Given the description of an element on the screen output the (x, y) to click on. 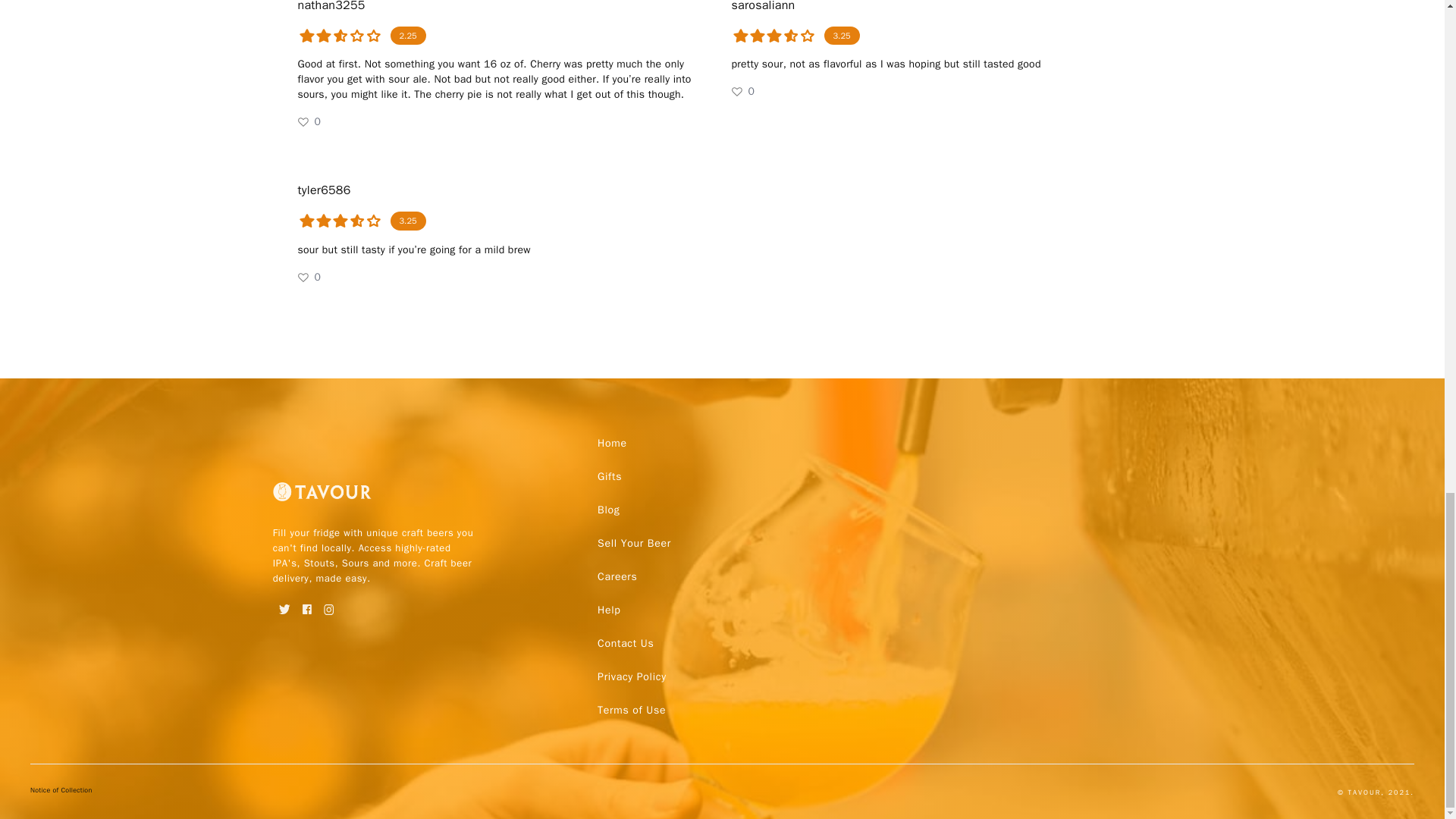
Blog (608, 509)
home (612, 442)
FAQ (631, 676)
Help (608, 609)
gifts (609, 476)
Gifts (609, 476)
Sell Your Beer (633, 542)
Careers (617, 575)
Terms of Use (631, 709)
Twitter (285, 604)
Tavour (322, 497)
Home (612, 442)
Help (608, 609)
FAQ (625, 643)
FAQ (631, 709)
